Given the description of an element on the screen output the (x, y) to click on. 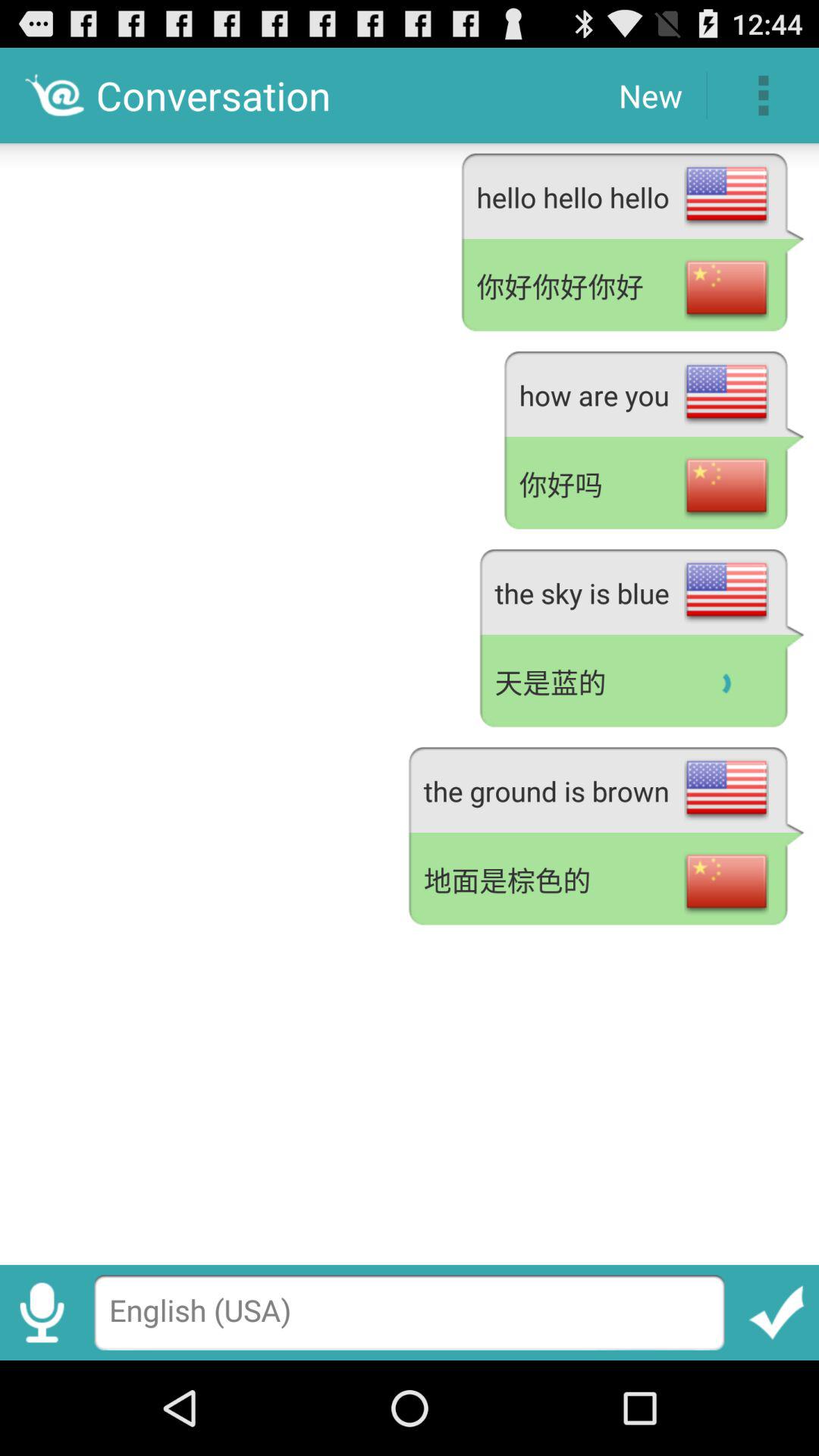
send text (776, 1312)
